Given the description of an element on the screen output the (x, y) to click on. 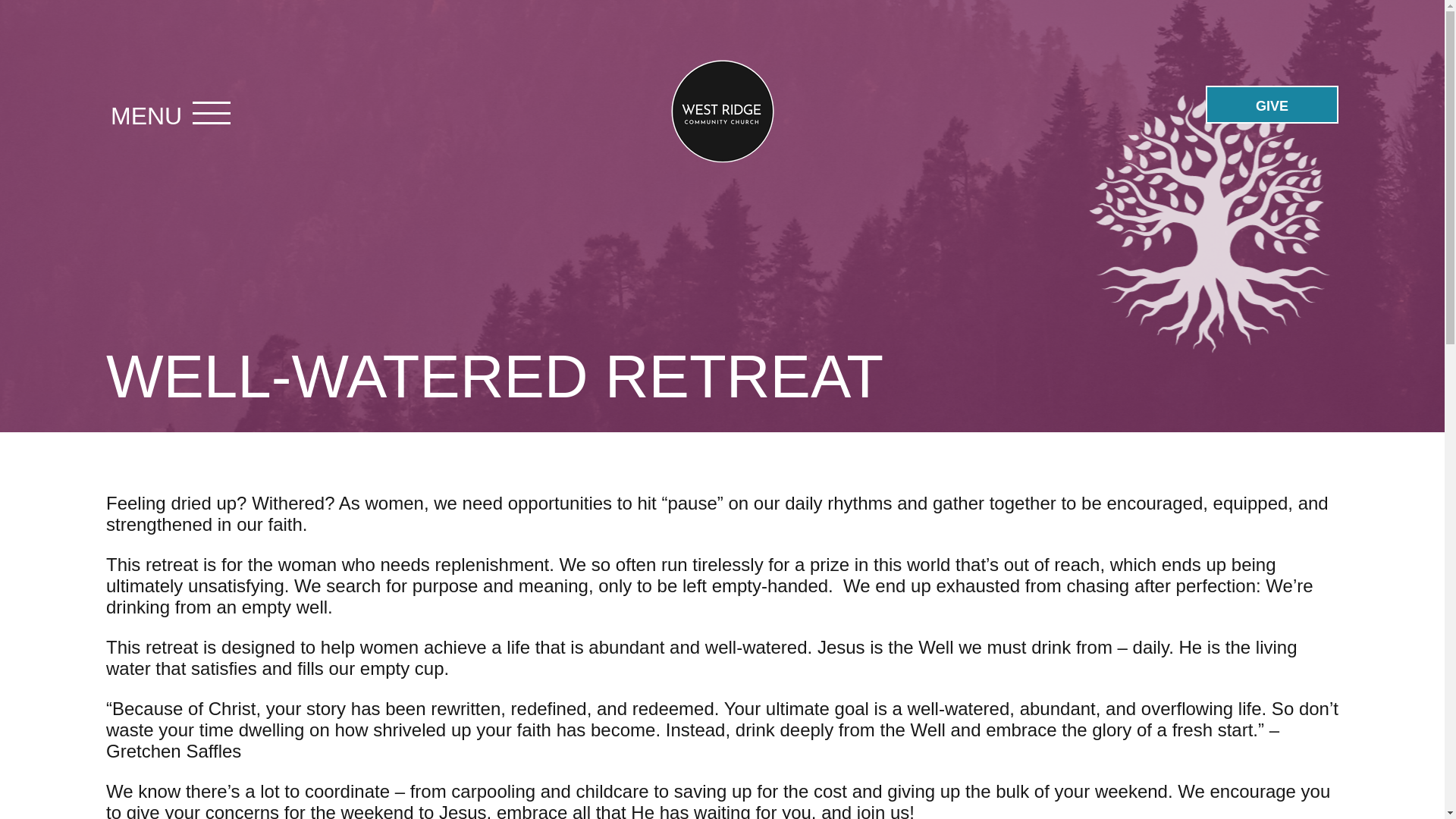
GIVE (1271, 104)
MENU (146, 117)
